Given the description of an element on the screen output the (x, y) to click on. 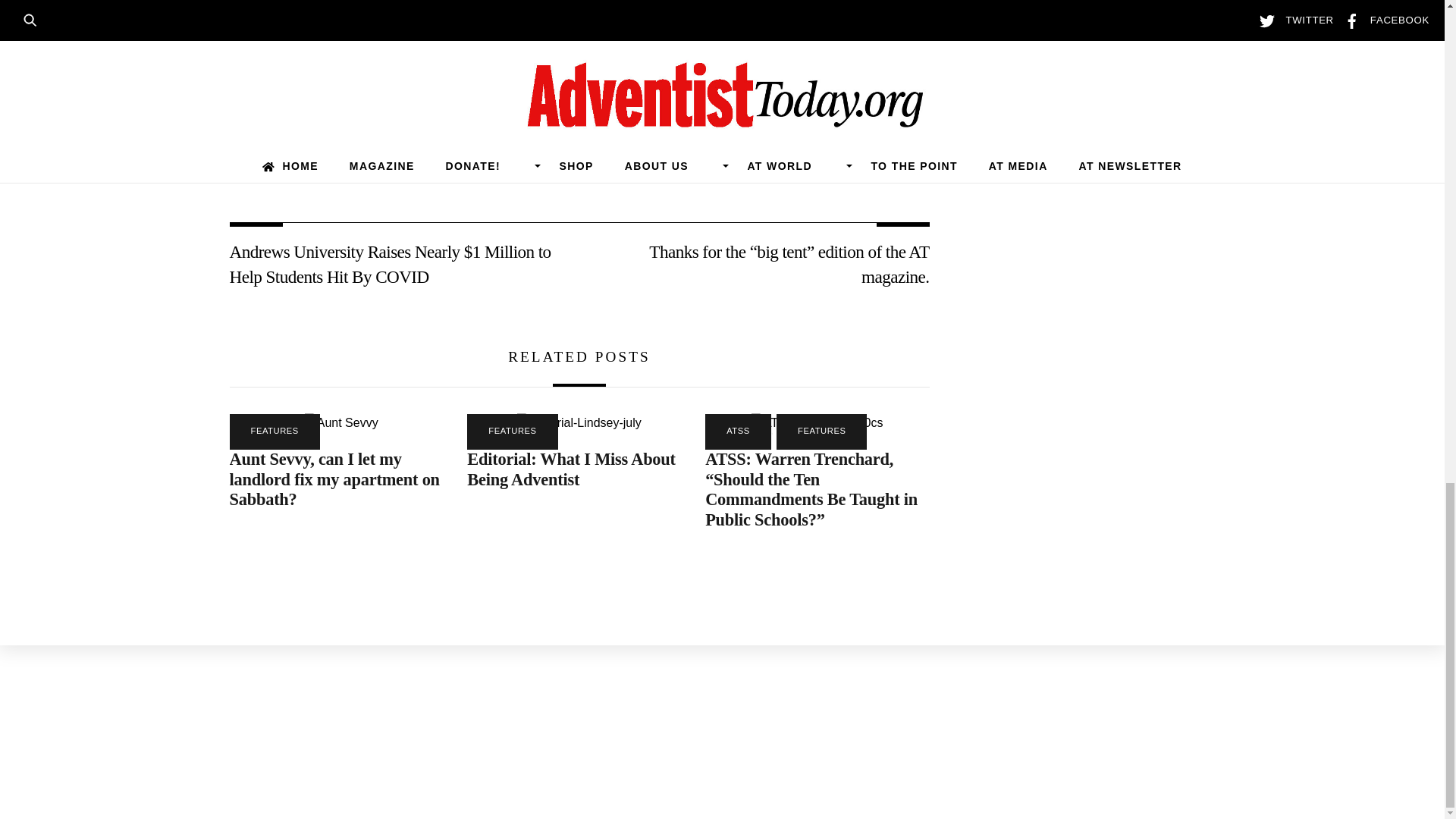
Editorial-Lindsey-july (579, 423)
Aunt Sevvy (341, 423)
ATSS-Trenchard-10cs (816, 423)
